Given the description of an element on the screen output the (x, y) to click on. 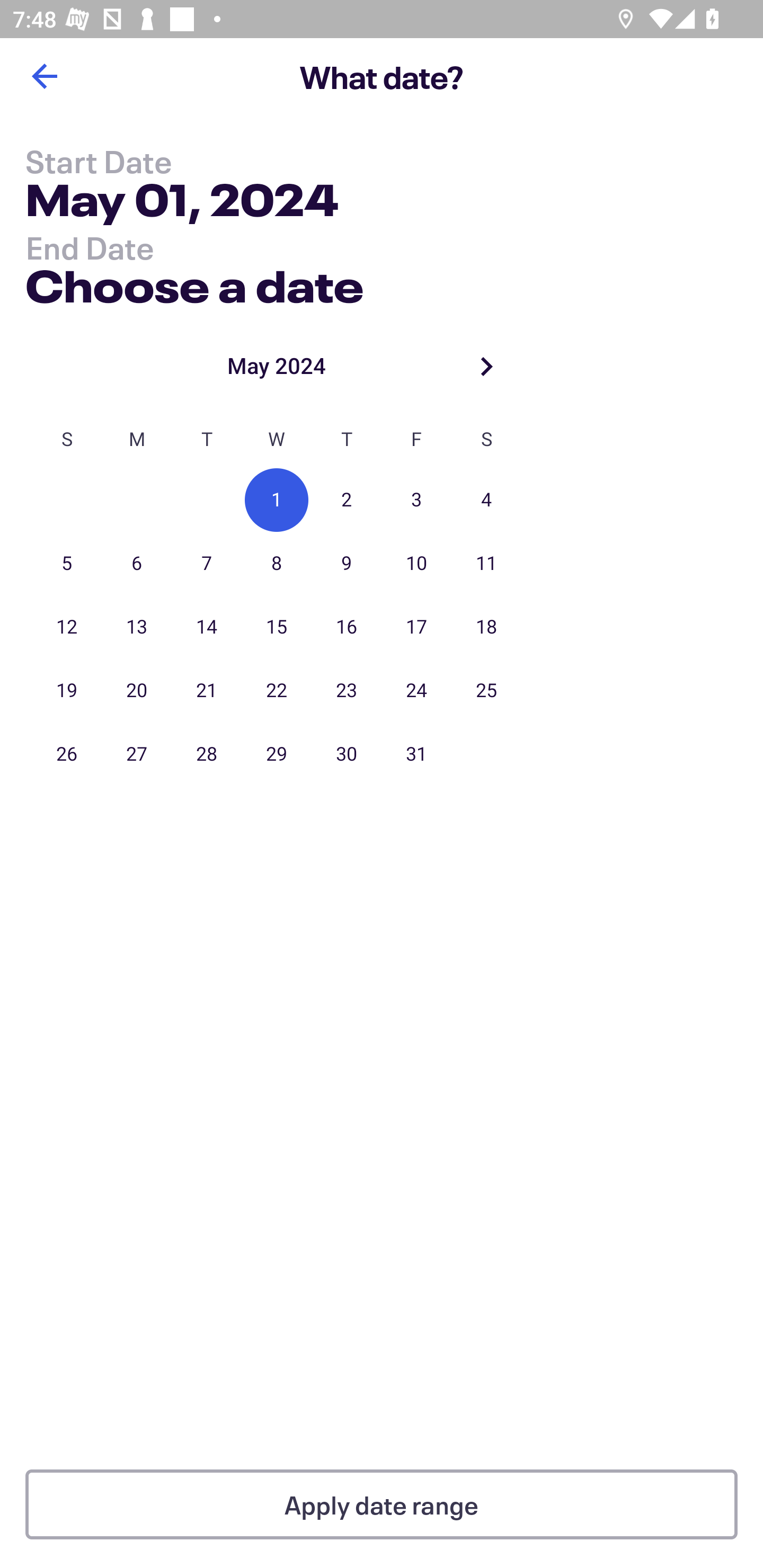
Back button (44, 75)
May 01, 2024 (181, 203)
Choose a date (194, 282)
Next month (486, 365)
1 01 May 2024 (276, 499)
2 02 May 2024 (346, 499)
3 03 May 2024 (416, 499)
4 04 May 2024 (486, 499)
5 05 May 2024 (66, 563)
6 06 May 2024 (136, 563)
7 07 May 2024 (206, 563)
8 08 May 2024 (276, 563)
9 09 May 2024 (346, 563)
10 10 May 2024 (416, 563)
11 11 May 2024 (486, 563)
12 12 May 2024 (66, 626)
13 13 May 2024 (136, 626)
14 14 May 2024 (206, 626)
15 15 May 2024 (276, 626)
16 16 May 2024 (346, 626)
17 17 May 2024 (416, 626)
18 18 May 2024 (486, 626)
19 19 May 2024 (66, 690)
20 20 May 2024 (136, 690)
21 21 May 2024 (206, 690)
22 22 May 2024 (276, 690)
23 23 May 2024 (346, 690)
24 24 May 2024 (416, 690)
25 25 May 2024 (486, 690)
26 26 May 2024 (66, 753)
27 27 May 2024 (136, 753)
28 28 May 2024 (206, 753)
29 29 May 2024 (276, 753)
30 30 May 2024 (346, 753)
31 31 May 2024 (416, 753)
Apply date range (381, 1504)
